Given the description of an element on the screen output the (x, y) to click on. 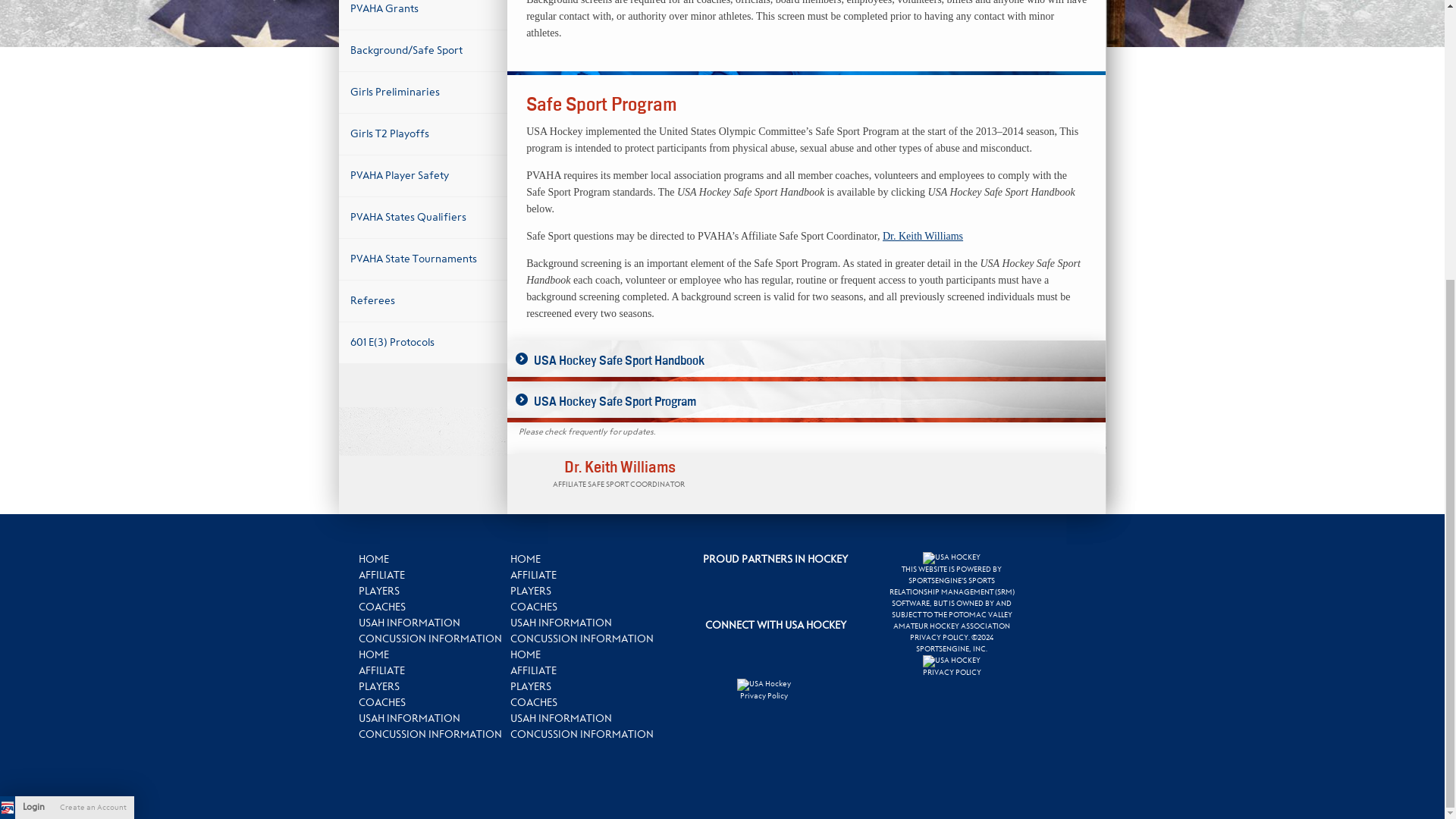
Potomac Valley Amateur Hockey Association Homepage (7, 390)
Create an Account (92, 390)
Login (33, 390)
Create an Account (92, 390)
Login (33, 390)
